Given the description of an element on the screen output the (x, y) to click on. 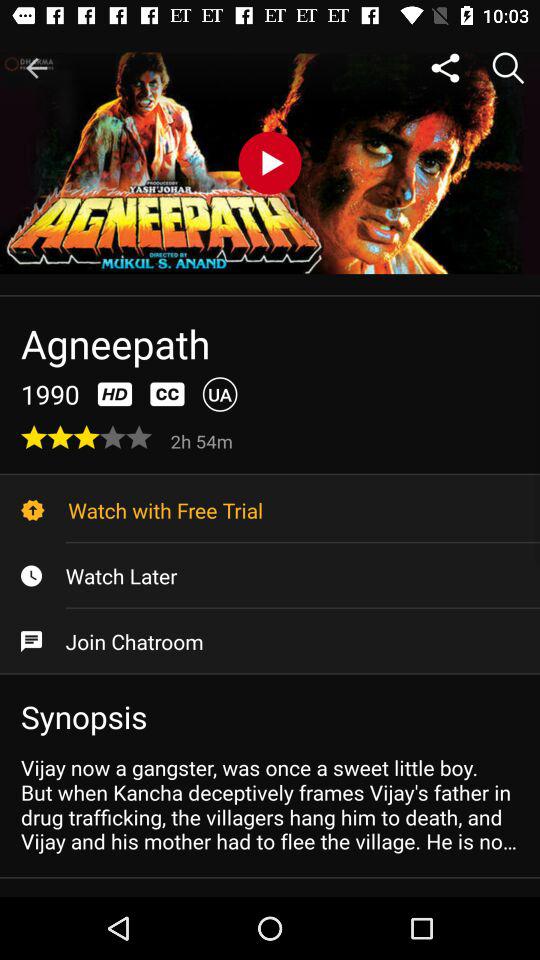
select icon above join chatroom item (270, 575)
